Given the description of an element on the screen output the (x, y) to click on. 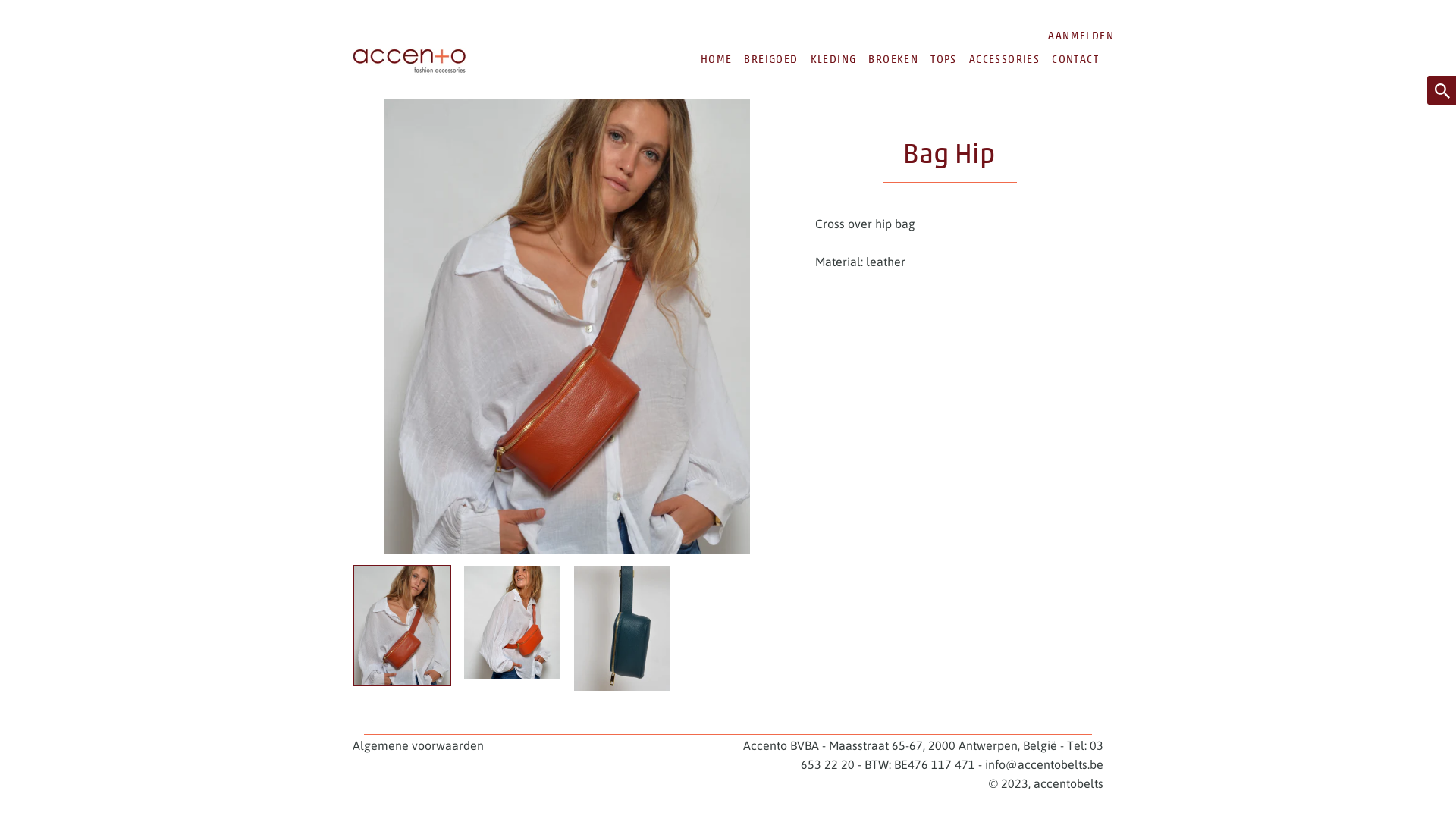
accentobelts Element type: text (1068, 783)
TOPS Element type: text (943, 59)
BREIGOED Element type: text (770, 59)
ACCESSORIES Element type: text (1004, 59)
BROEKEN Element type: text (892, 59)
Algemene voorwaarden Element type: text (417, 745)
info@accentobelts.be Element type: text (1044, 764)
CONTACT Element type: text (1075, 59)
Tel: 03 653 22 20 Element type: text (951, 754)
KLEDING Element type: text (833, 59)
AANMELDEN Element type: text (1080, 35)
HOME Element type: text (716, 59)
